Given the description of an element on the screen output the (x, y) to click on. 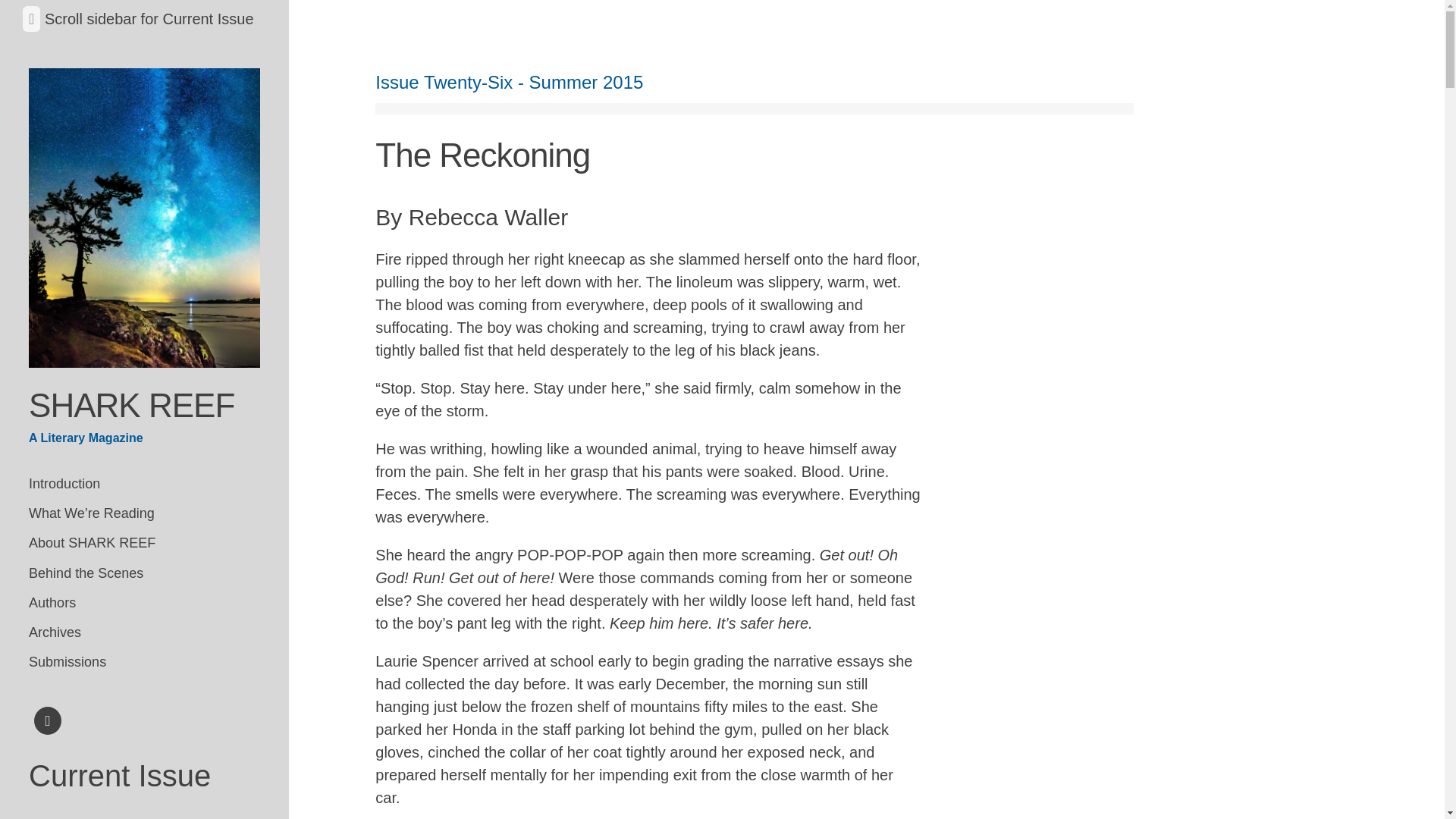
About SHARK REEF (144, 542)
SHARK REEF (131, 405)
Archives (144, 632)
Submissions (144, 662)
Scroll sidebar for Current Issue (149, 18)
Facebook (47, 723)
Authors (144, 603)
Behind the Scenes (144, 573)
Introduction (144, 483)
